Given the description of an element on the screen output the (x, y) to click on. 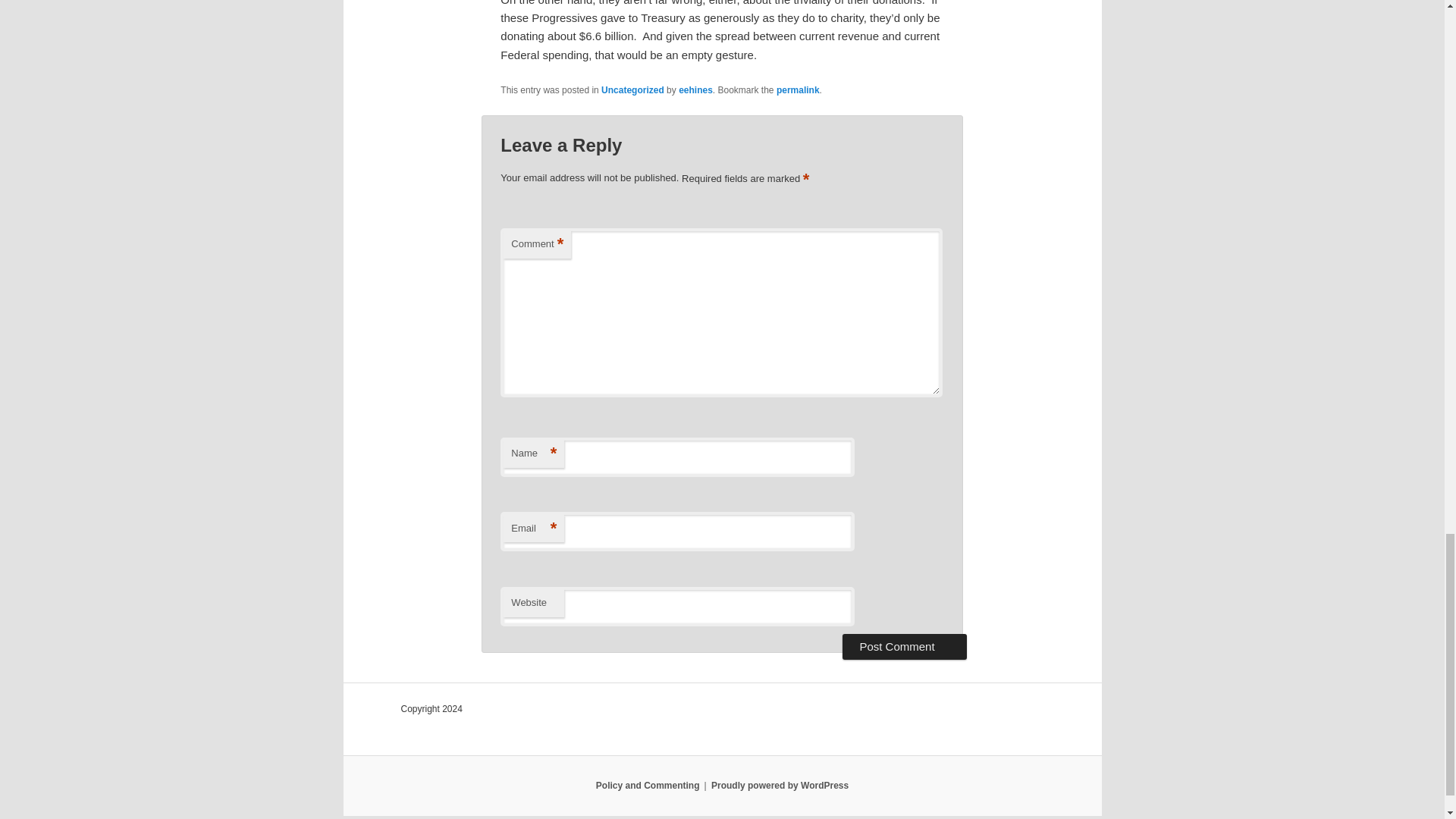
eehines (695, 90)
Post Comment (904, 646)
Semantic Personal Publishing Platform (779, 785)
Uncategorized (632, 90)
Policy and Commenting (647, 785)
Permalink to Progressives and Taxes (797, 90)
permalink (797, 90)
Post Comment (904, 646)
Proudly powered by WordPress (779, 785)
